Given the description of an element on the screen output the (x, y) to click on. 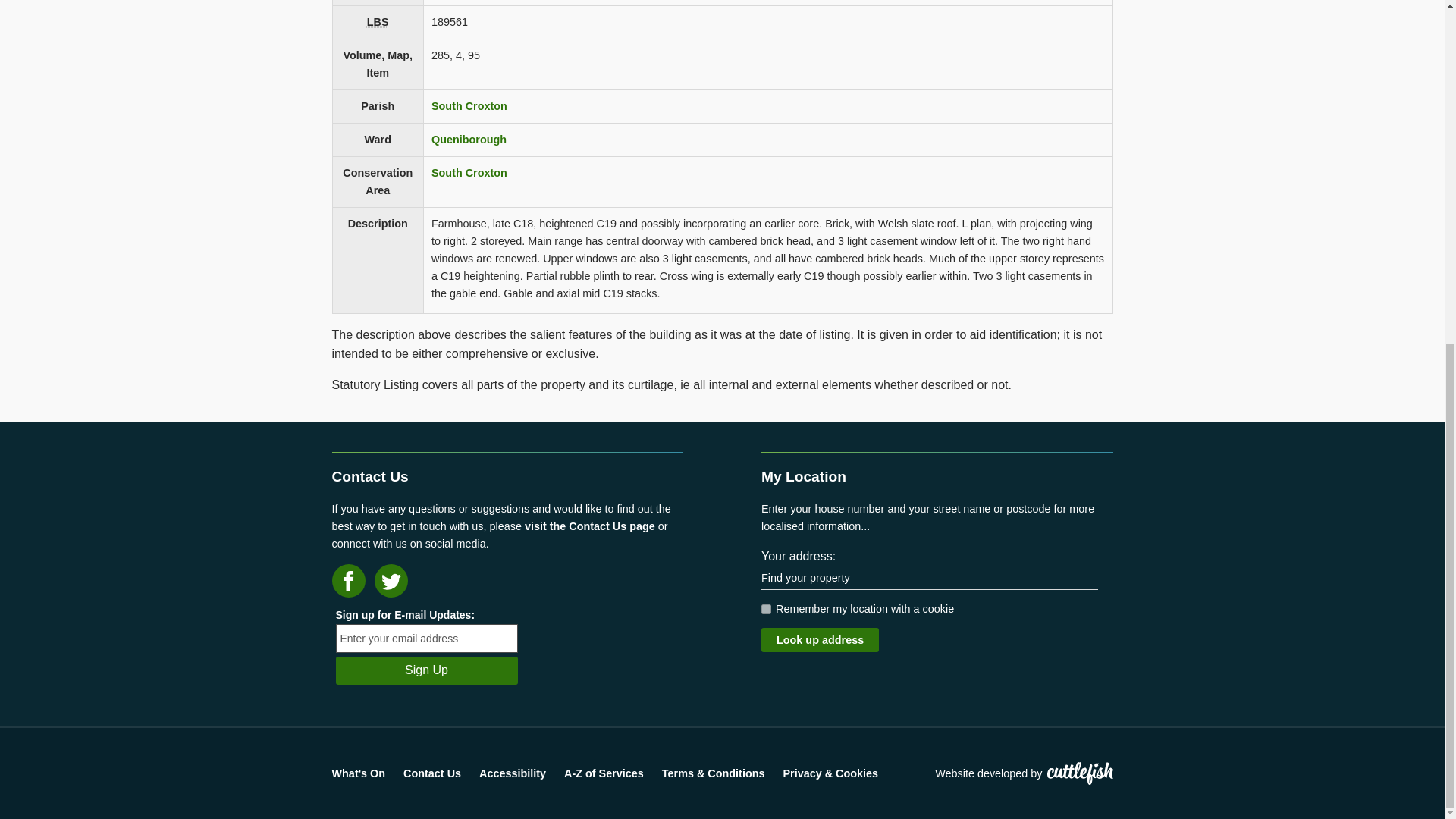
1 (766, 609)
Queniborough (468, 139)
1 (766, 609)
Listed Building System (377, 21)
South Croxton (468, 173)
South Croxton (468, 105)
Sign Up (425, 670)
